Given the description of an element on the screen output the (x, y) to click on. 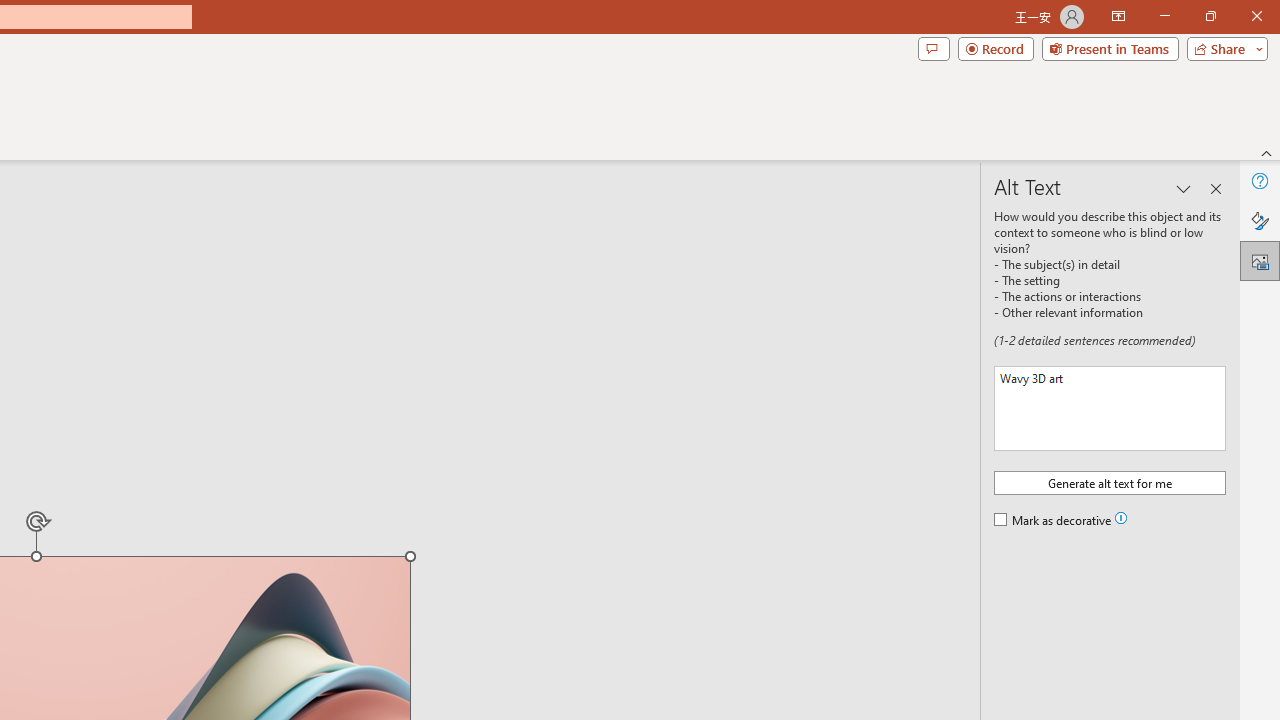
Mark as decorative (1054, 521)
Generate alt text for me (1110, 482)
Description (1110, 408)
Format Picture (1260, 220)
